Given the description of an element on the screen output the (x, y) to click on. 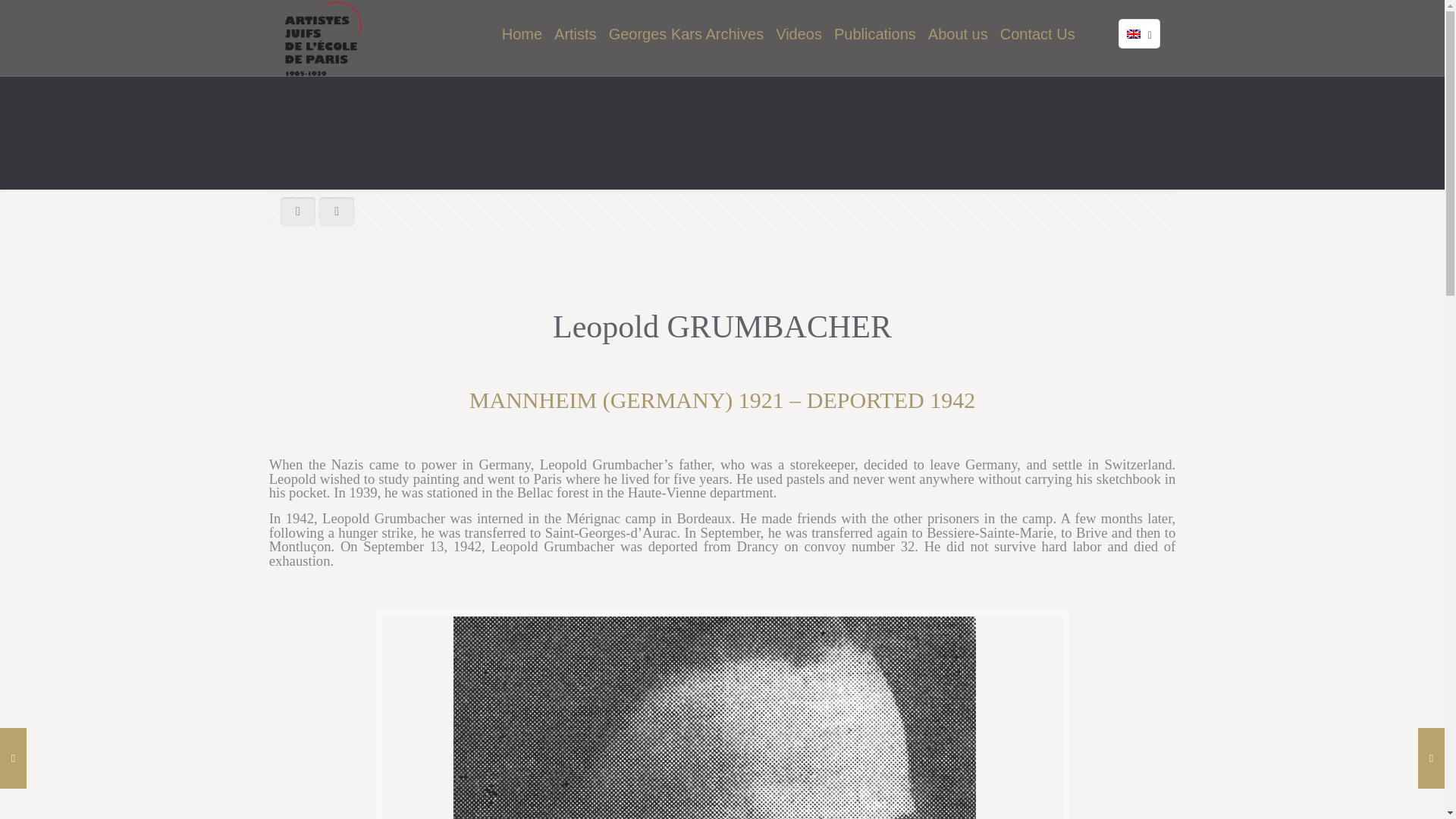
Publications (874, 33)
Georges Kars Archives (686, 33)
Contact Us (1037, 33)
About us (957, 33)
